Given the description of an element on the screen output the (x, y) to click on. 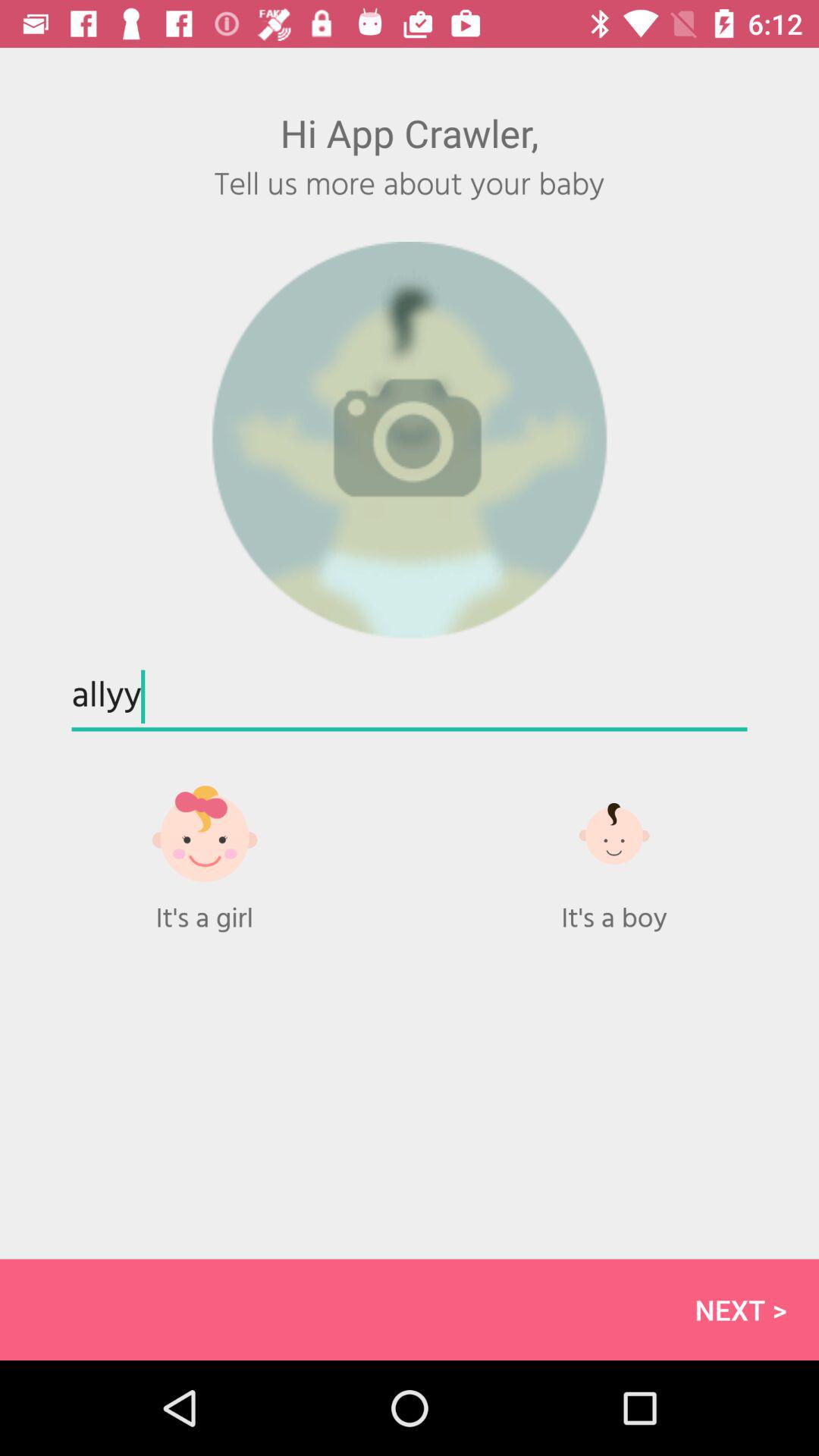
scroll to next > (409, 1309)
